Given the description of an element on the screen output the (x, y) to click on. 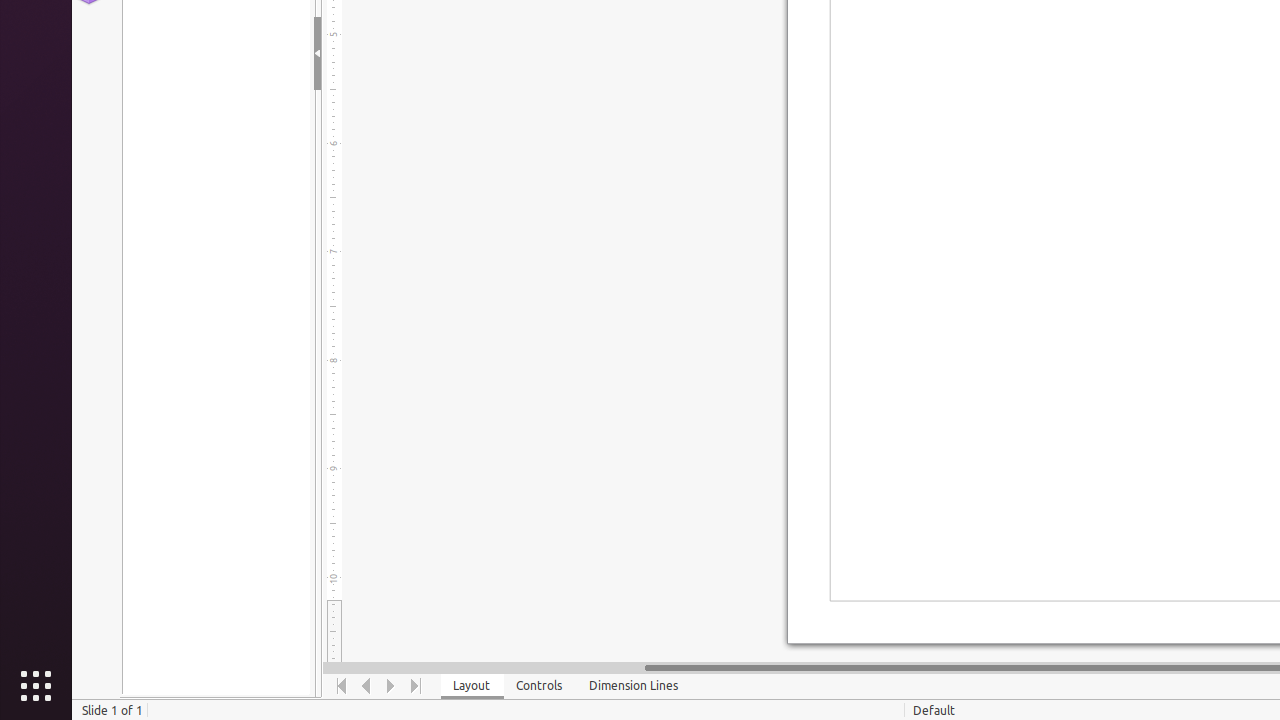
Show Applications Element type: toggle-button (36, 686)
Move To End Element type: push-button (416, 686)
Move Left Element type: push-button (366, 686)
Controls Element type: page-tab (540, 686)
Move Right Element type: push-button (391, 686)
